Given the description of an element on the screen output the (x, y) to click on. 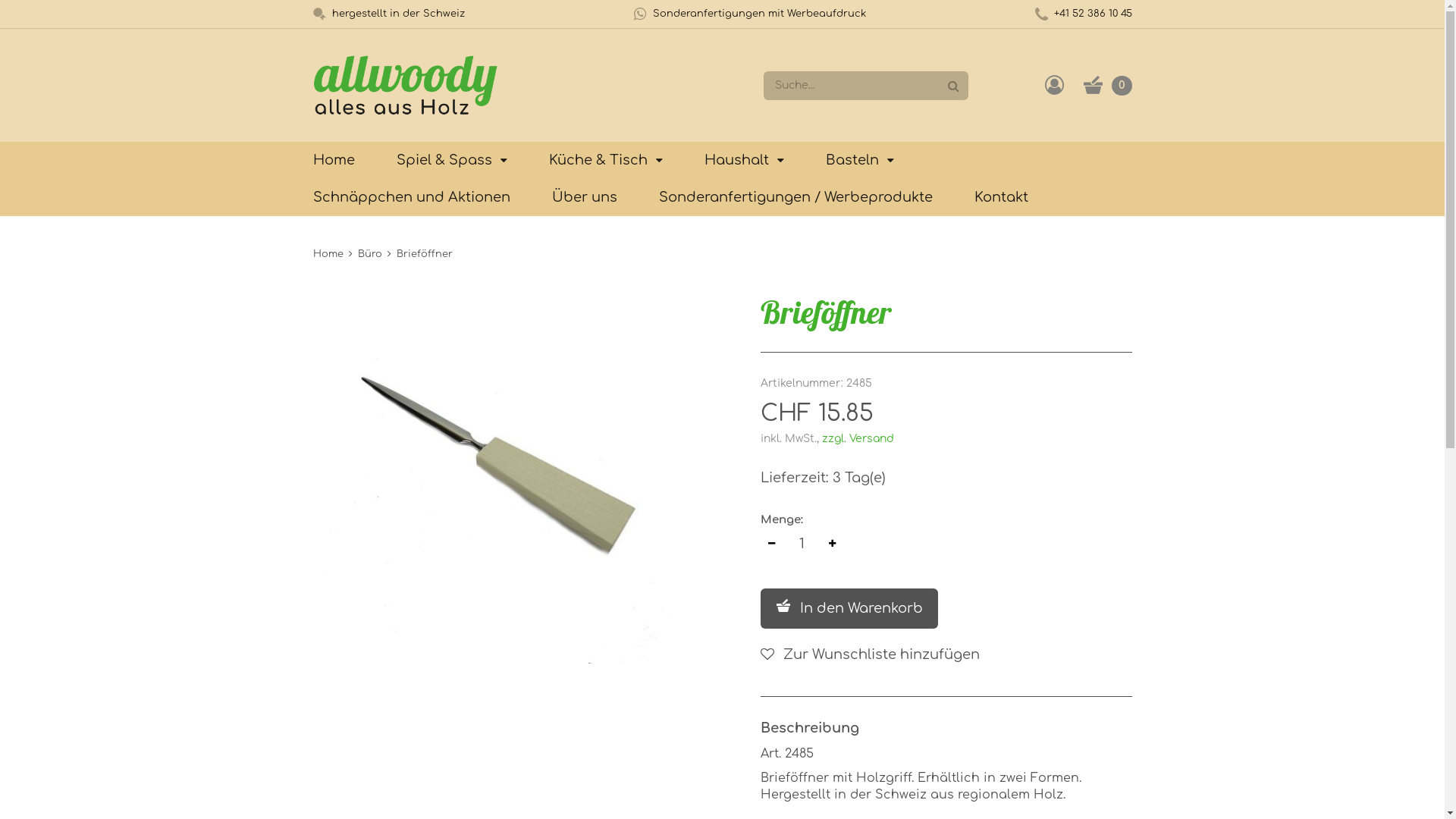
Kontakt Element type: text (1000, 196)
Warenkorb anzeigen. Sie haben 0 Artikel im Warenkorb.
0 Element type: text (1107, 84)
In den Warenkorb Element type: text (848, 608)
Spiel & Spass Element type: text (450, 159)
Haushalt Element type: text (743, 159)
Basteln Element type: text (859, 159)
Sonderanfertigungen / Werbeprodukte Element type: text (794, 196)
Home Element type: text (333, 159)
allwoody Element type: hover (404, 85)
Home Element type: text (327, 253)
zzgl. Versand Element type: text (858, 438)
Suche Element type: text (952, 85)
